Given the description of an element on the screen output the (x, y) to click on. 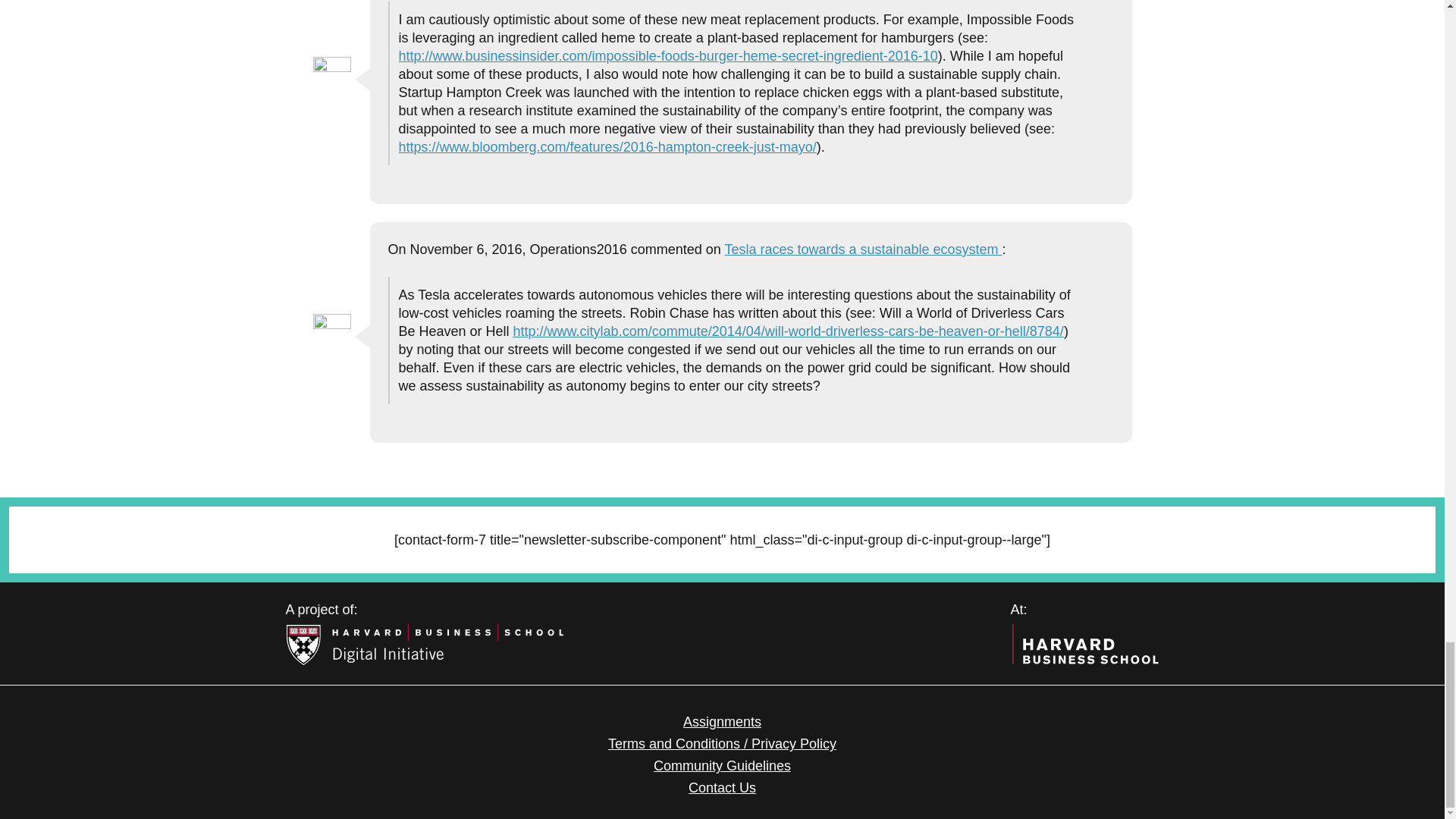
Tesla races towards a sustainable ecosystem (862, 249)
